Given the description of an element on the screen output the (x, y) to click on. 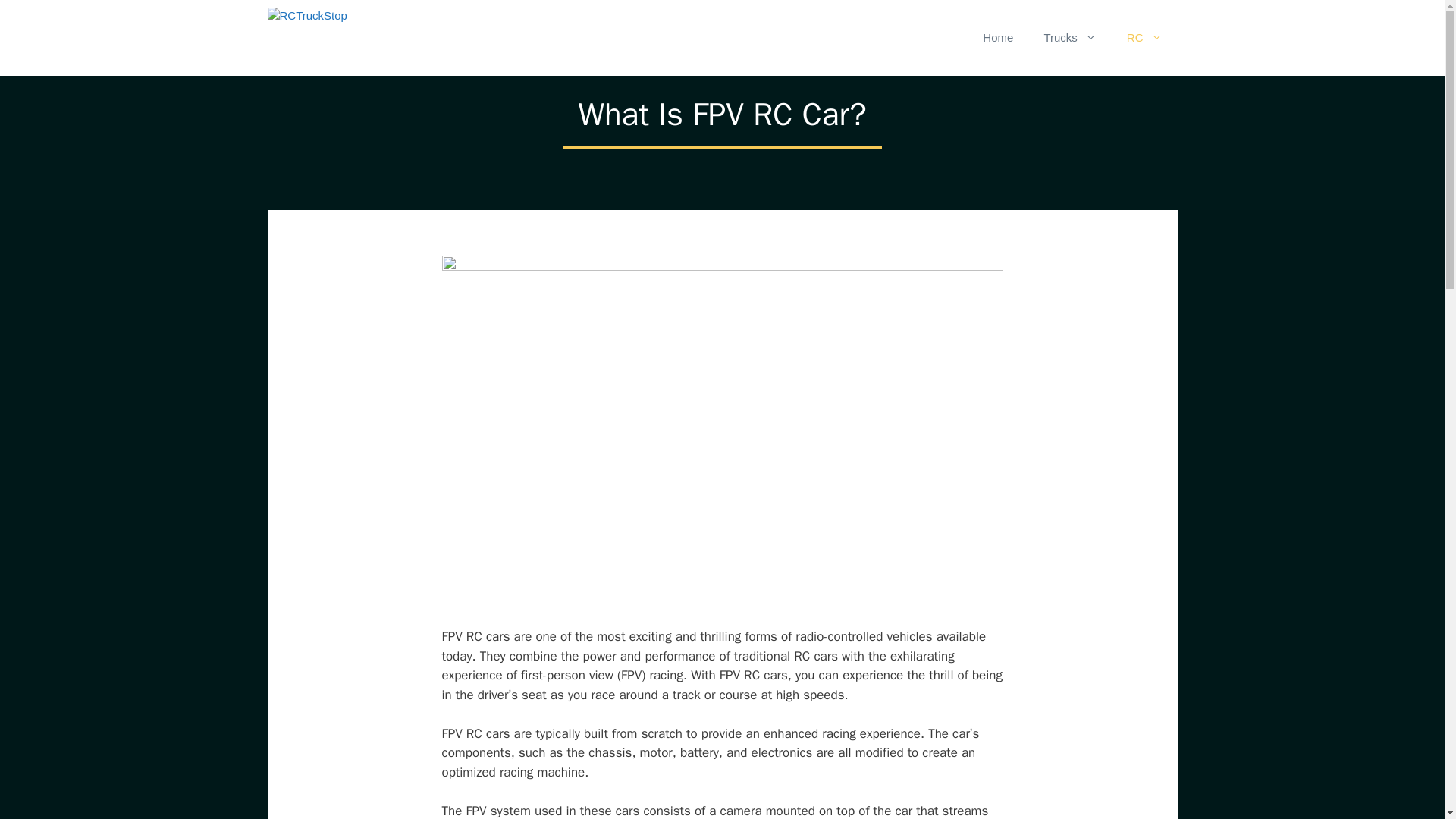
RCTruckStop (381, 38)
Home (997, 37)
RC (1144, 37)
Trucks (1068, 37)
